Given the description of an element on the screen output the (x, y) to click on. 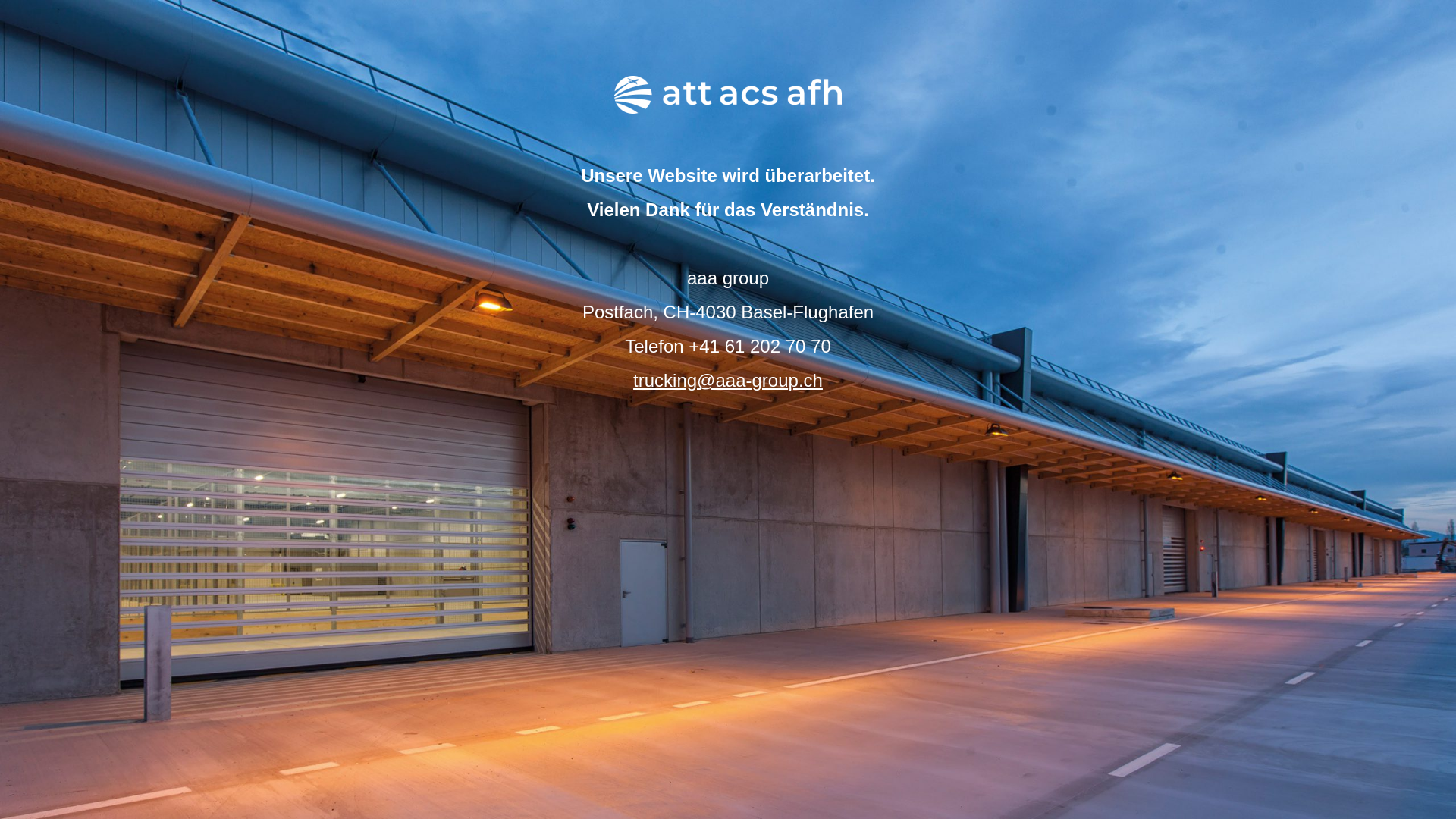
trucking@aaa-group.ch Element type: text (727, 380)
